Given the description of an element on the screen output the (x, y) to click on. 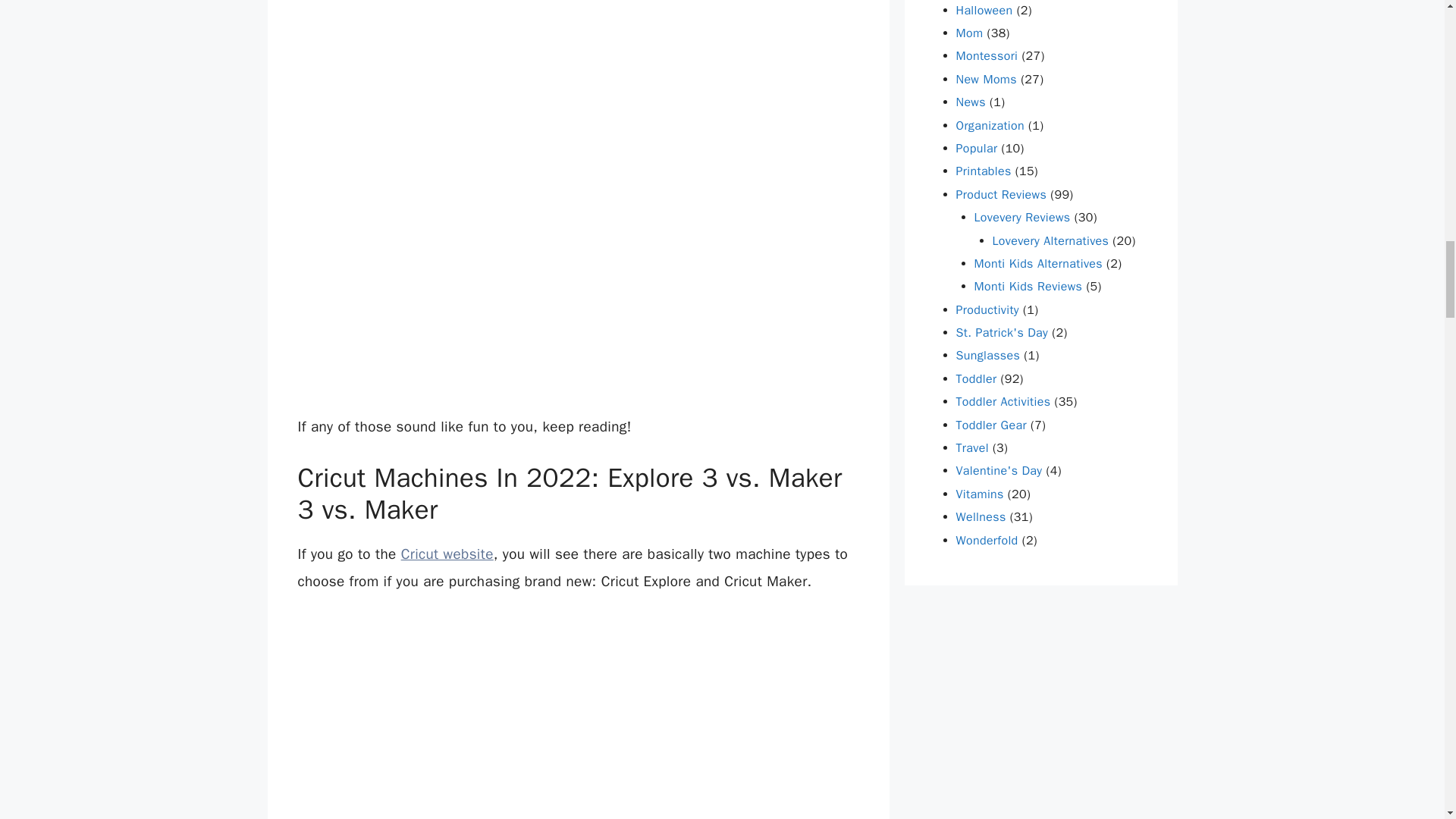
Cricut website (447, 554)
